Given the description of an element on the screen output the (x, y) to click on. 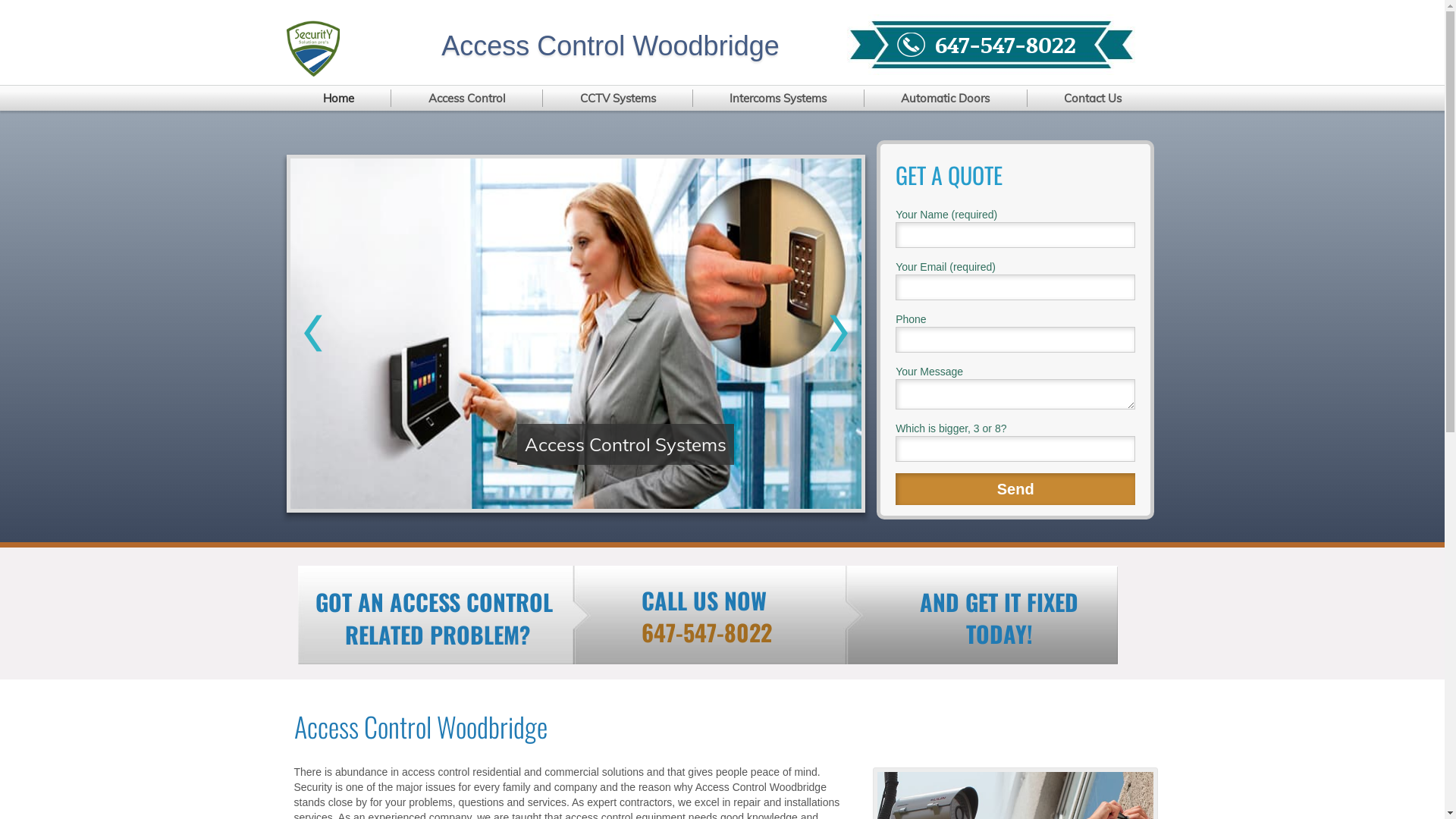
Access Control Element type: text (466, 97)
CCTV Systems Element type: text (617, 97)
647-547-8022 Element type: text (1005, 43)
Automatic Doors Element type: text (945, 97)
Send Element type: text (1015, 489)
Contact Us Element type: text (1092, 97)
Home Element type: text (339, 97)
Intercoms Systems Element type: text (778, 97)
